Given the description of an element on the screen output the (x, y) to click on. 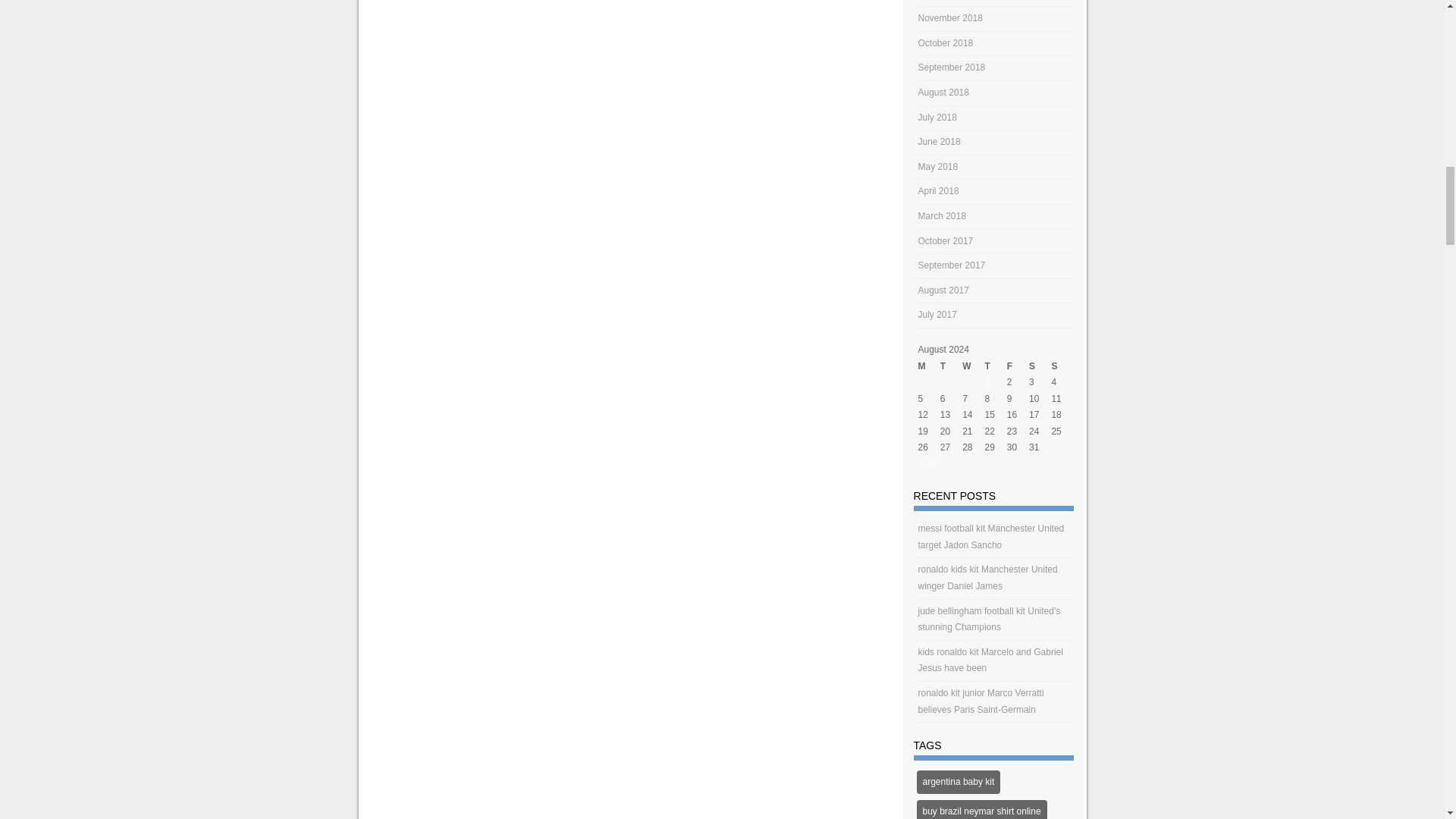
Friday (1018, 365)
Sunday (1062, 365)
Thursday (995, 365)
Wednesday (973, 365)
Tuesday (951, 365)
Monday (929, 365)
Saturday (1040, 365)
